Given the description of an element on the screen output the (x, y) to click on. 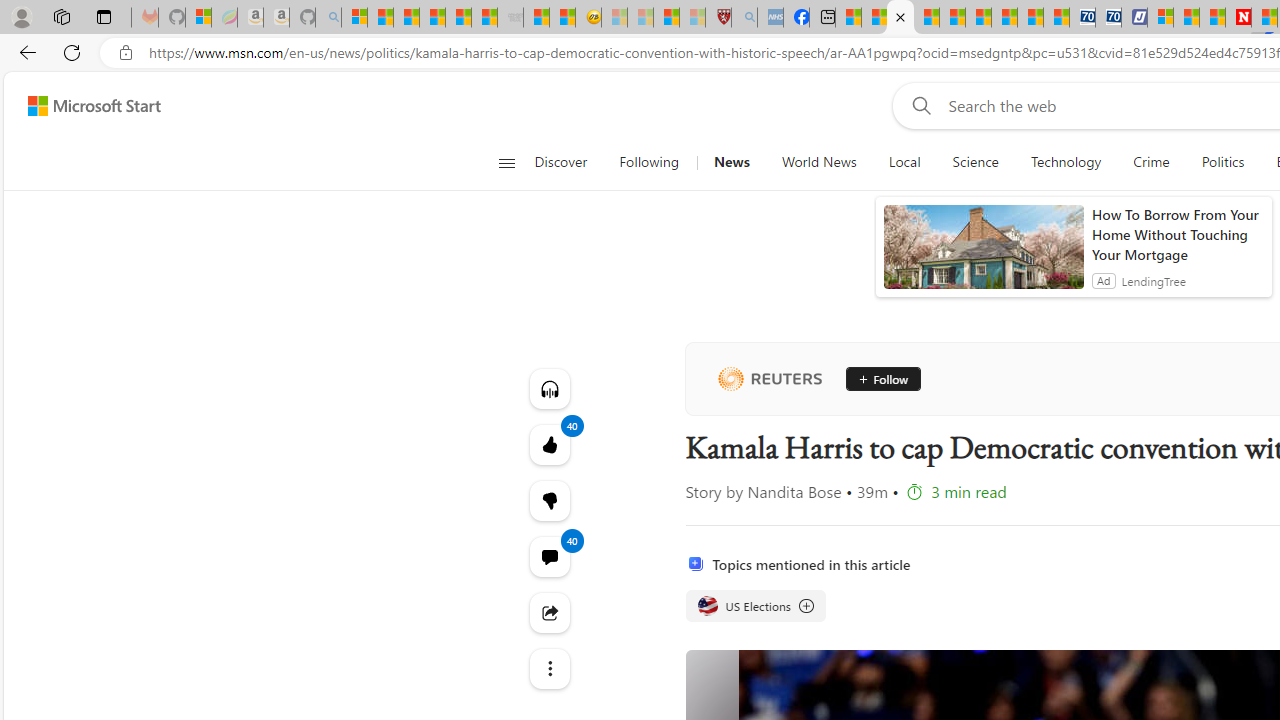
Cheap Hotels - Save70.com (1108, 17)
New Report Confirms 2023 Was Record Hot | Watch (458, 17)
40 Like (548, 444)
Reuters (769, 378)
